Given the description of an element on the screen output the (x, y) to click on. 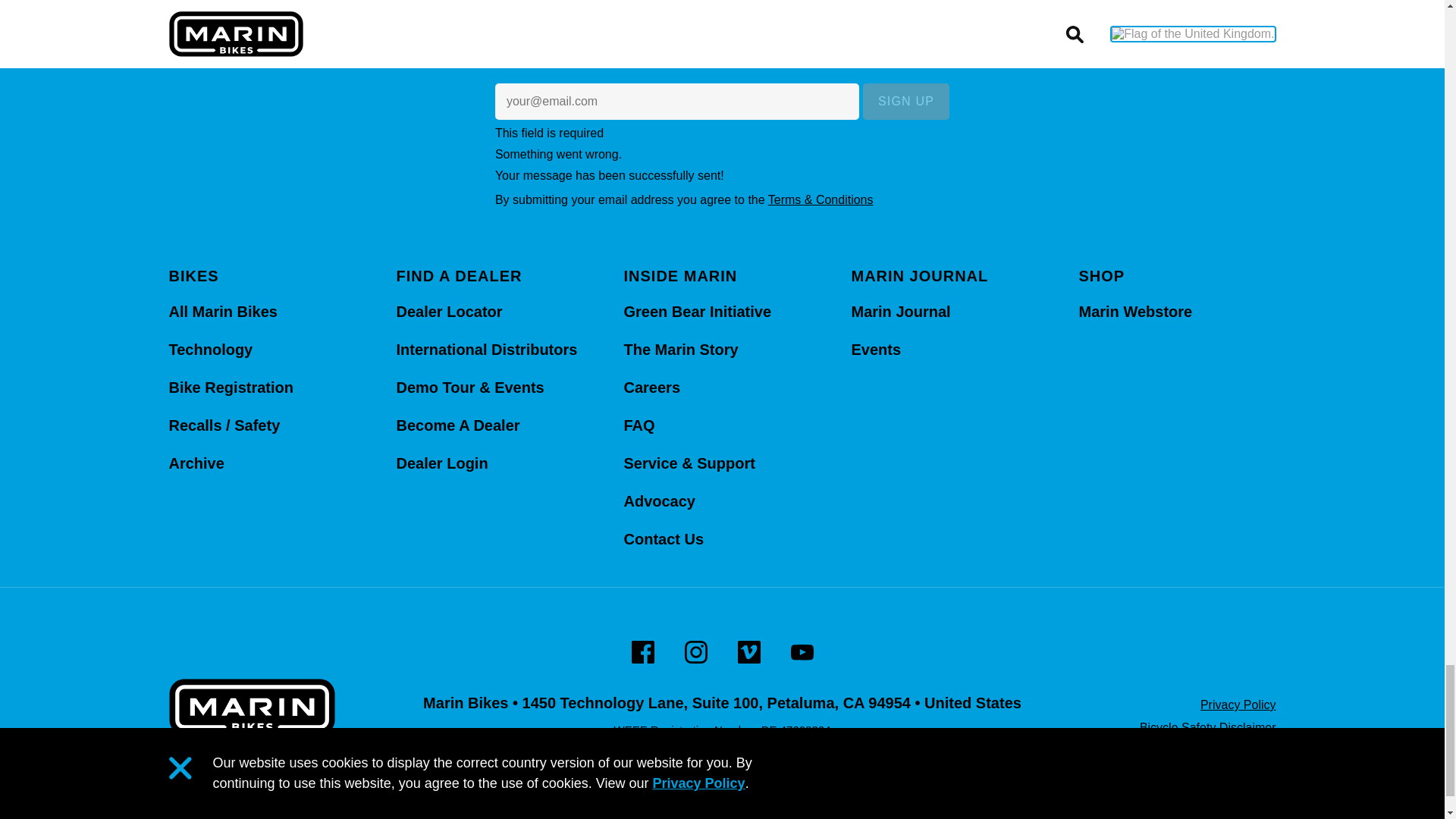
Green Bear Initiative (697, 311)
The Marin Story (680, 349)
Dealer Login (441, 463)
SIGN UP (906, 101)
Technology (209, 349)
Become A Dealer (457, 425)
Archive (196, 463)
Dealer Locator (449, 311)
International Distributors (486, 349)
Careers (651, 387)
Bike Registration (230, 387)
All Marin Bikes (222, 311)
